Given the description of an element on the screen output the (x, y) to click on. 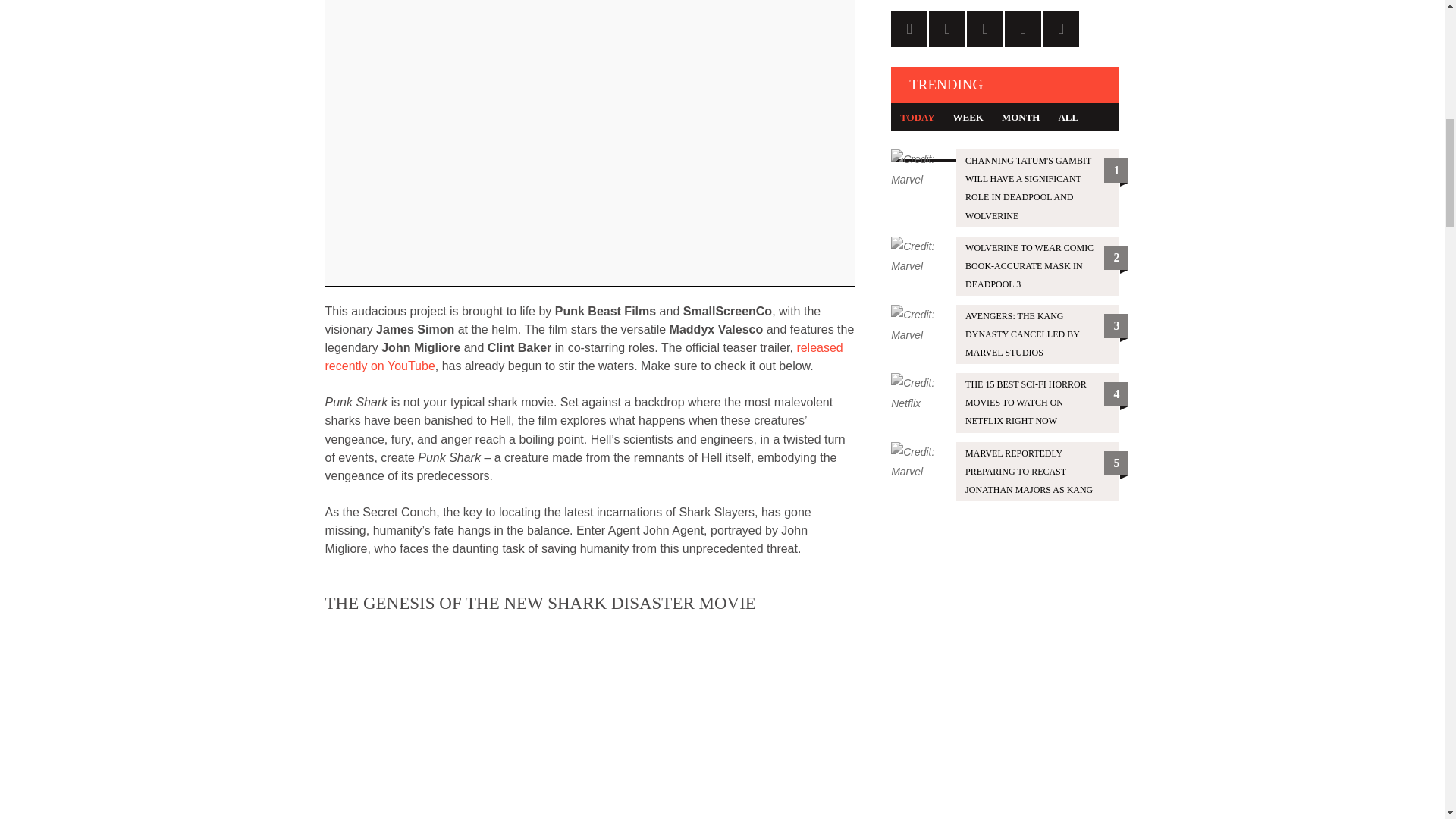
Avengers: The Kang Dynasty Cancelled By Marvel Studios (1005, 333)
Wolverine To Wear Comic Book-Accurate Mask In Deadpool 3 (1005, 265)
